Given the description of an element on the screen output the (x, y) to click on. 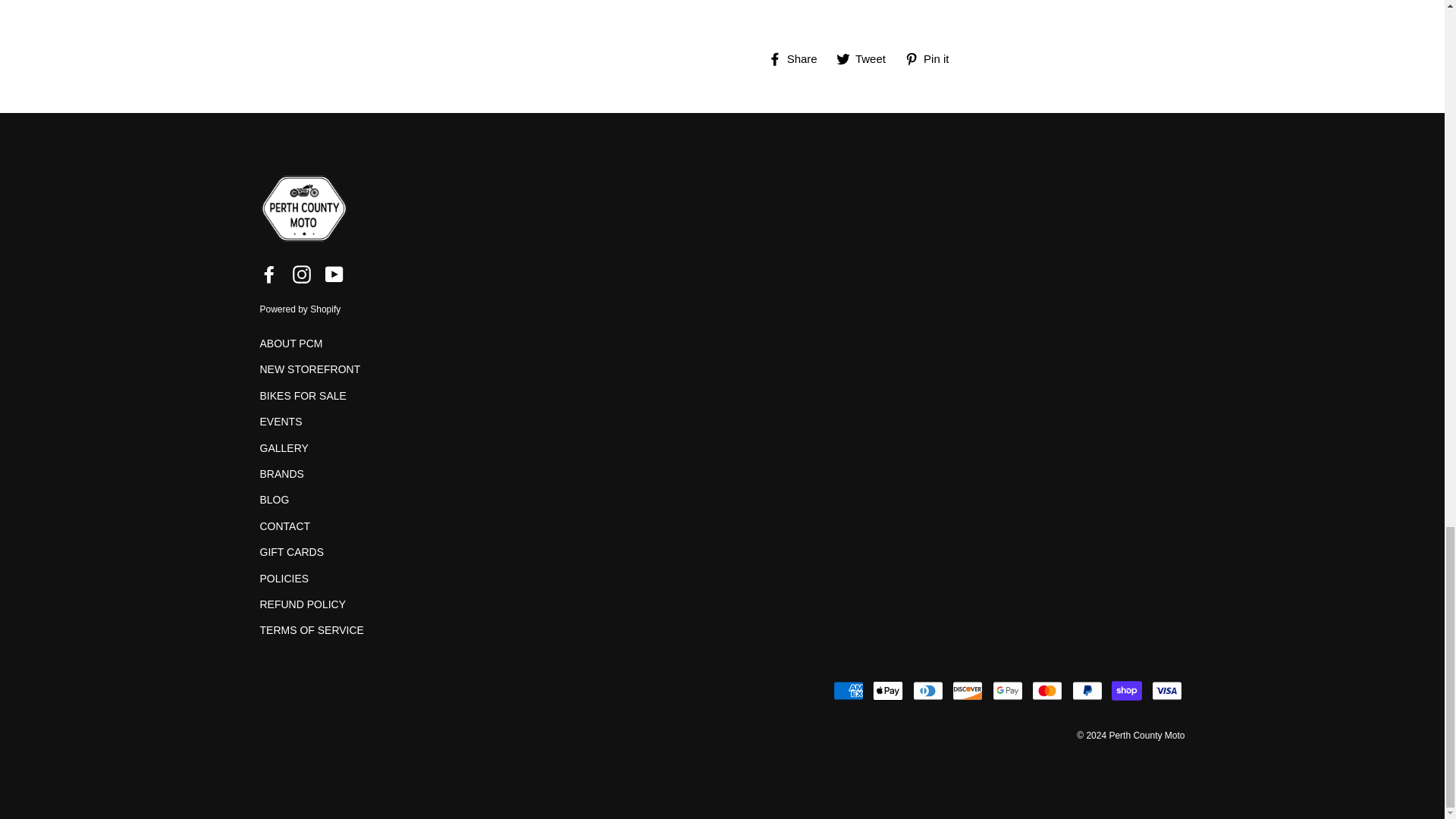
American Express (847, 690)
Perth County Moto on YouTube (333, 273)
Tweet on Twitter (865, 58)
Apple Pay (887, 690)
Perth County Moto on Instagram (301, 273)
Perth County Moto on Facebook (268, 273)
Share on Facebook (797, 58)
Diners Club (927, 690)
Pin on Pinterest (932, 58)
